Given the description of an element on the screen output the (x, y) to click on. 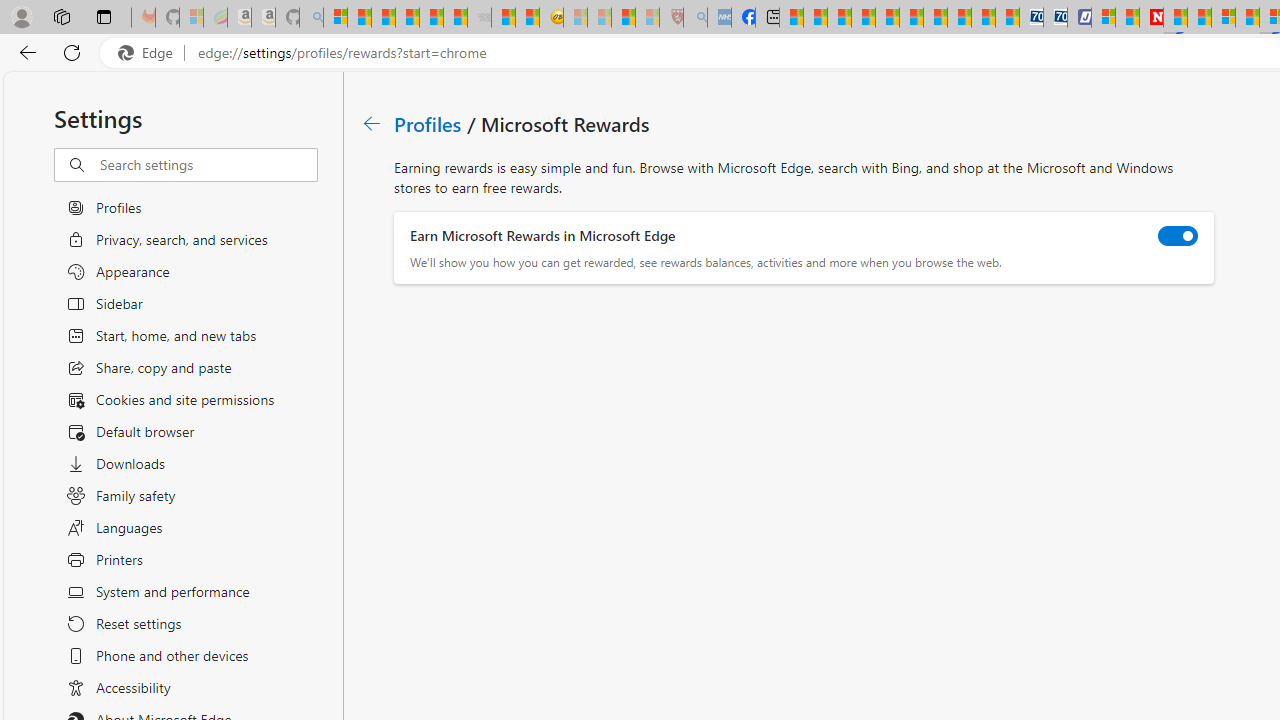
Combat Siege - Sleeping (479, 17)
Class: c01179 (371, 123)
